Given the description of an element on the screen output the (x, y) to click on. 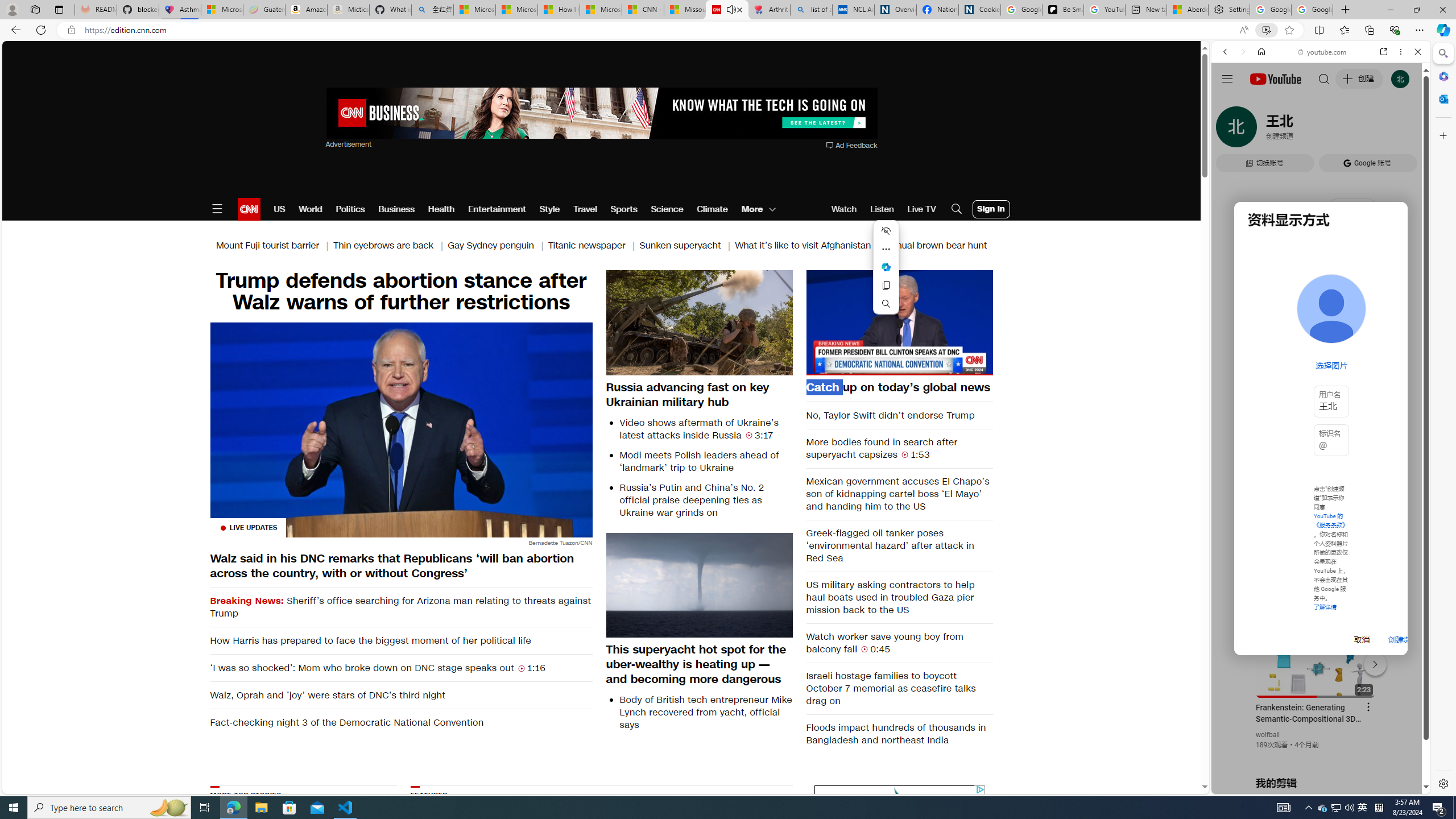
Options (952, 365)
youtube.com (1322, 51)
